Given the description of an element on the screen output the (x, y) to click on. 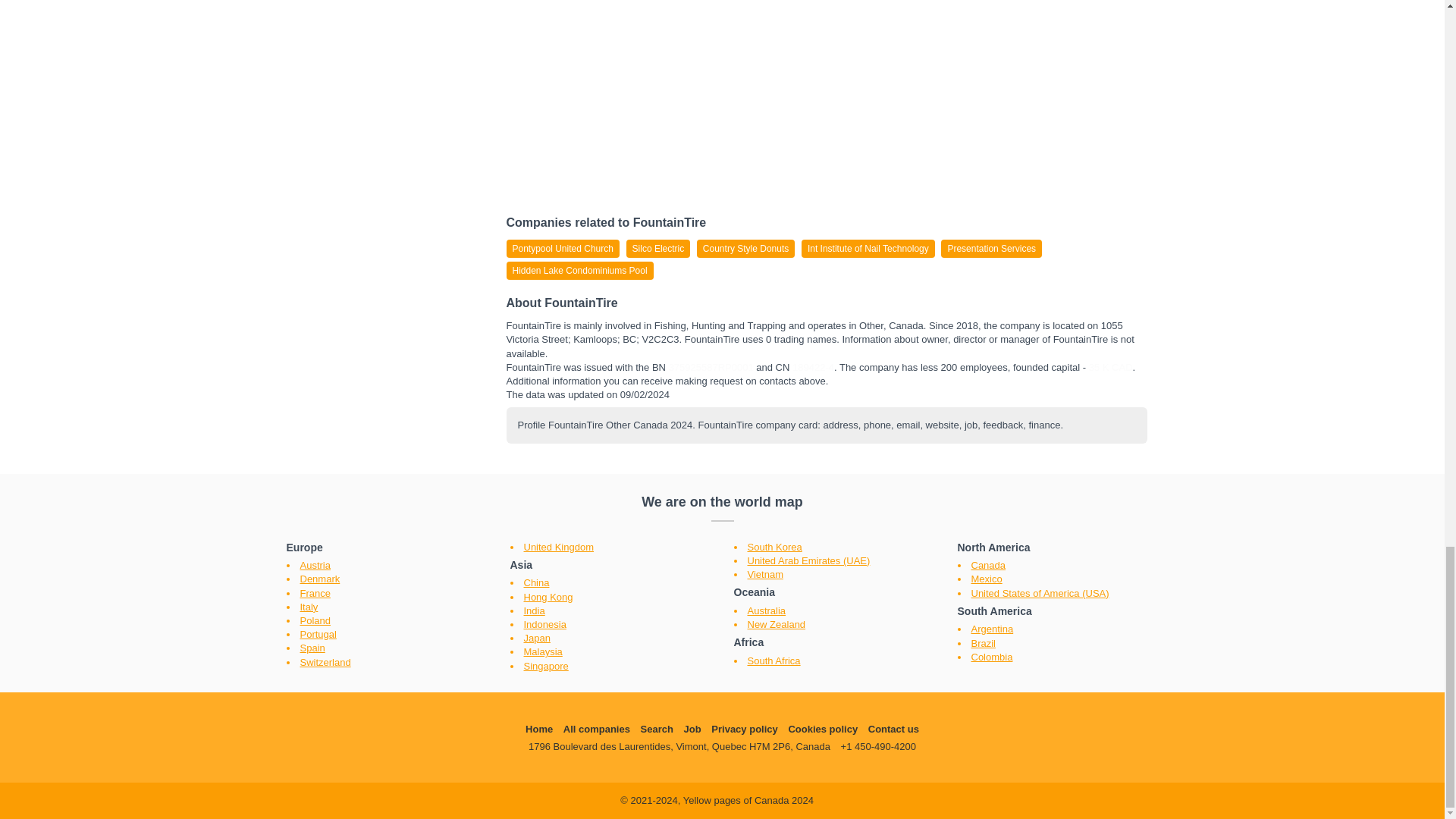
Silco Electric (658, 248)
Hidden Lake Condominiums Pool (579, 270)
Presentation Services (991, 248)
Austria (314, 564)
France (314, 593)
Pontypool United Church (563, 248)
Country Style Donuts (745, 248)
Denmark (319, 578)
LiveInternet (820, 797)
Int Institute of Nail Technology (868, 248)
